Given the description of an element on the screen output the (x, y) to click on. 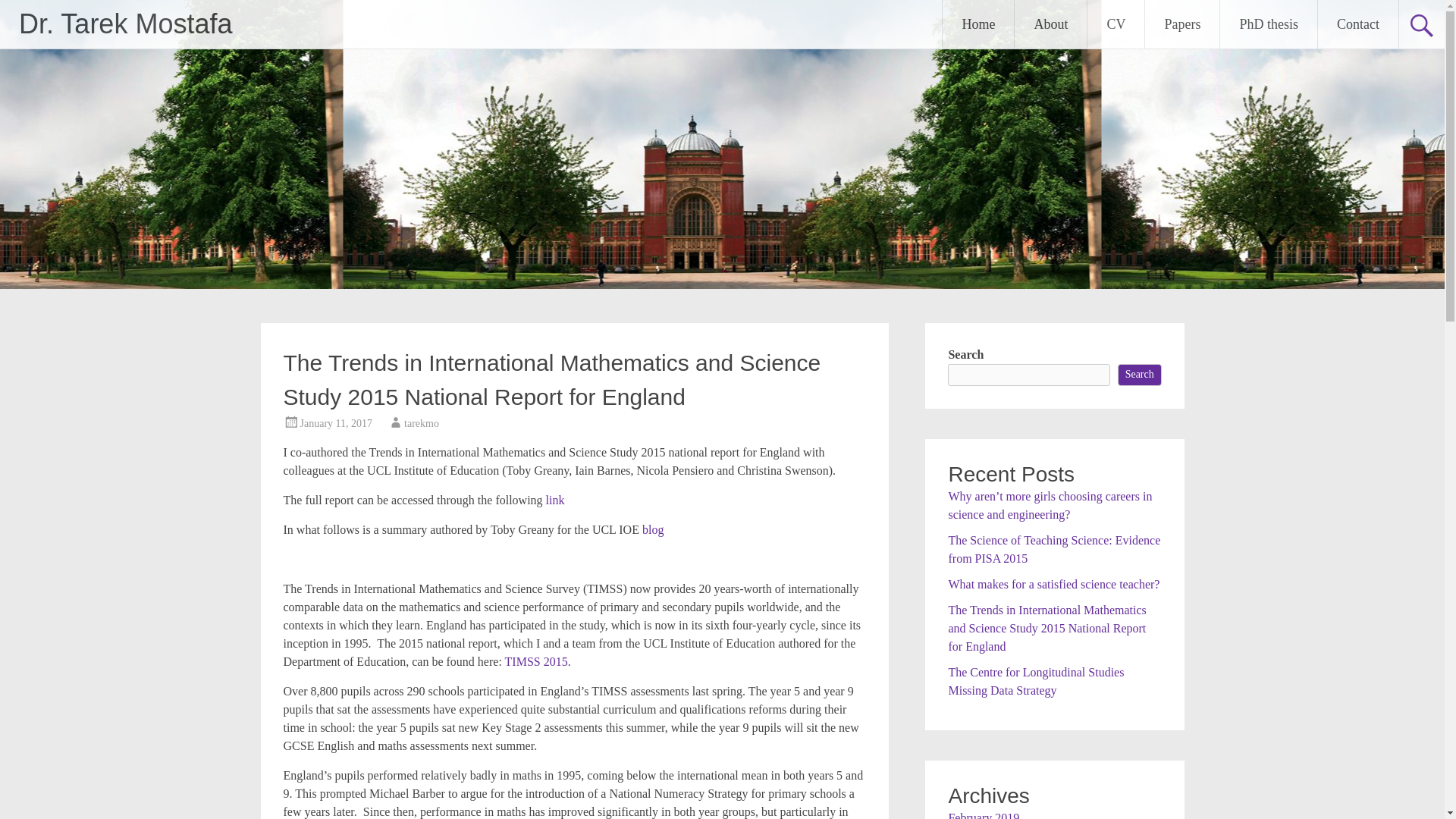
Papers (1182, 24)
tarekmo (421, 423)
The Science of Teaching Science: Evidence from PISA 2015 (1053, 549)
TIMSS 2015 (536, 661)
Home (977, 24)
January 11, 2017 (335, 423)
Contact (1357, 24)
PhD thesis (1268, 24)
Search (1139, 374)
link (555, 499)
CV (1115, 24)
Dr. Tarek Mostafa (124, 23)
About (1050, 24)
The Centre for Longitudinal Studies Missing Data Strategy (1035, 680)
